Given the description of an element on the screen output the (x, y) to click on. 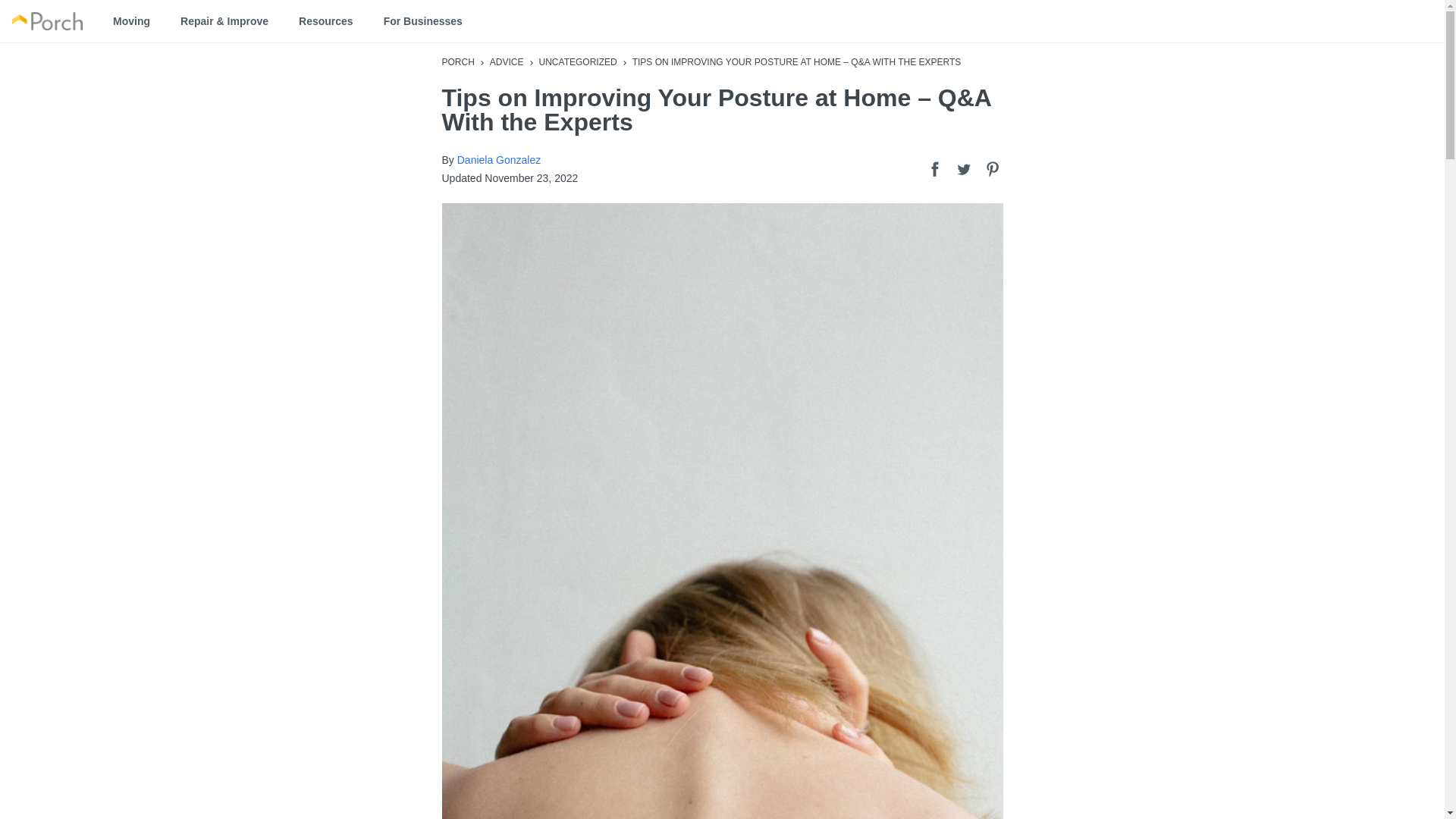
Moving (131, 21)
